Given the description of an element on the screen output the (x, y) to click on. 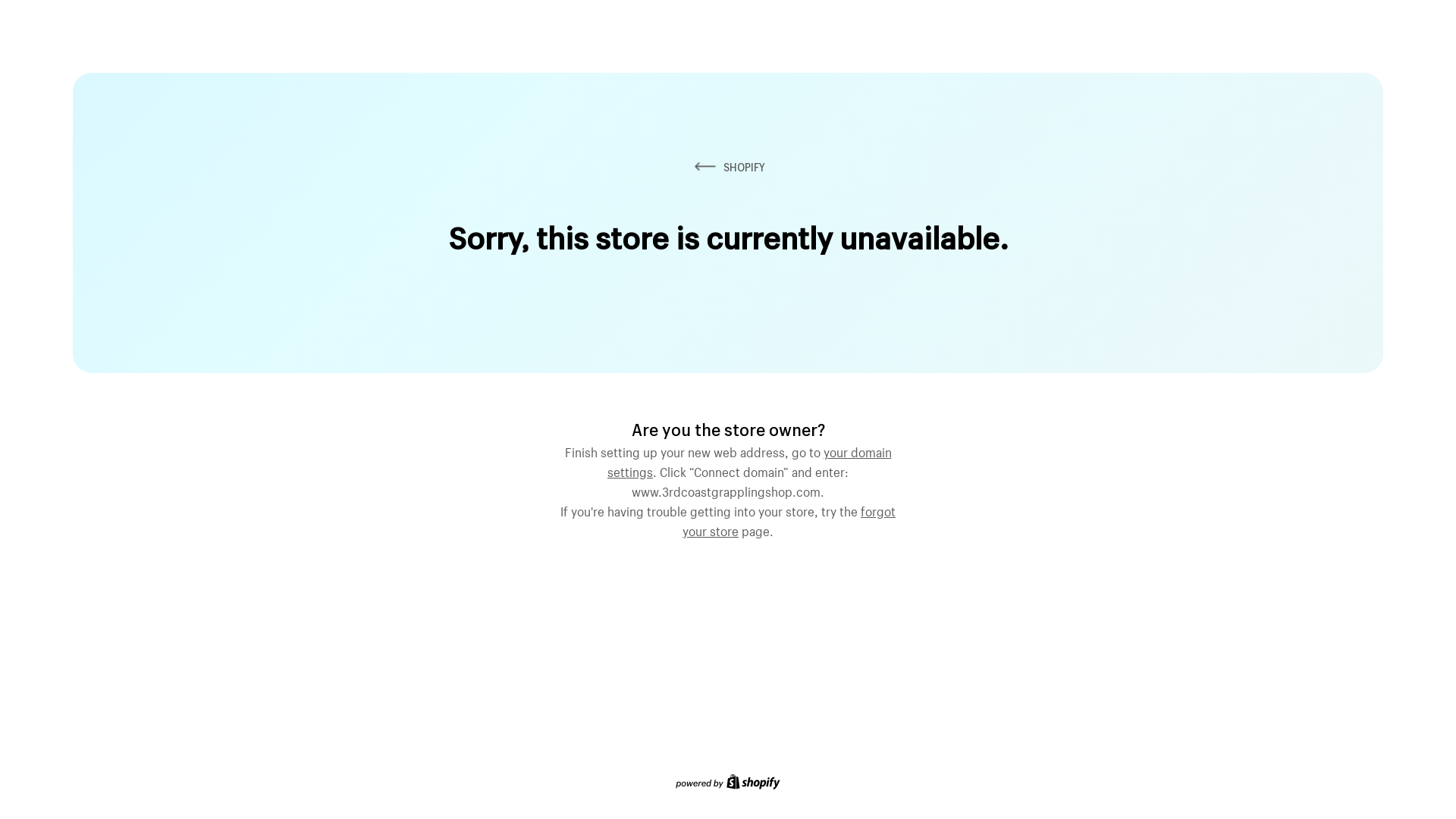
SHOPIFY Element type: text (727, 167)
forgot your store Element type: text (788, 519)
your domain settings Element type: text (749, 460)
